Given the description of an element on the screen output the (x, y) to click on. 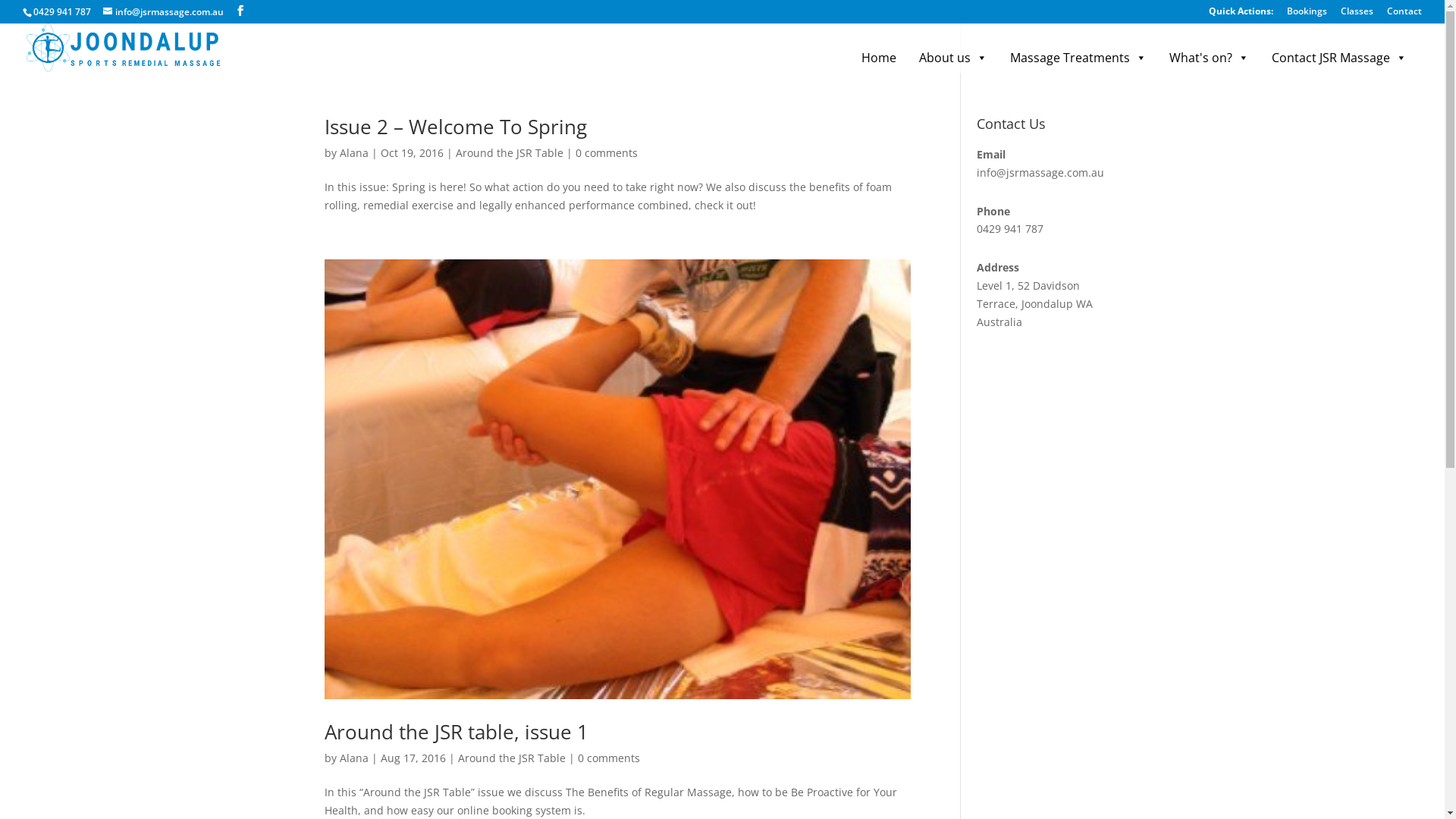
Around the JSR Table Element type: text (508, 152)
Classes Element type: text (1356, 14)
0 comments Element type: text (608, 757)
Alana Element type: text (353, 757)
Alana Element type: text (353, 152)
Bookings Element type: text (1306, 14)
Contact Element type: text (1403, 14)
Quick Actions: Element type: text (1240, 14)
About us Element type: text (952, 57)
0429 941 787 Element type: text (61, 11)
Around the JSR table, issue 1 Element type: text (456, 731)
info@jsrmassage.com.au Element type: text (1040, 172)
Around the JSR Table Element type: text (511, 757)
0 comments Element type: text (605, 152)
Home Element type: text (878, 57)
info@jsrmassage.com.au Element type: text (163, 11)
Massage Treatments Element type: text (1078, 57)
Contact JSR Massage Element type: text (1339, 57)
What's on? Element type: text (1208, 57)
